Given the description of an element on the screen output the (x, y) to click on. 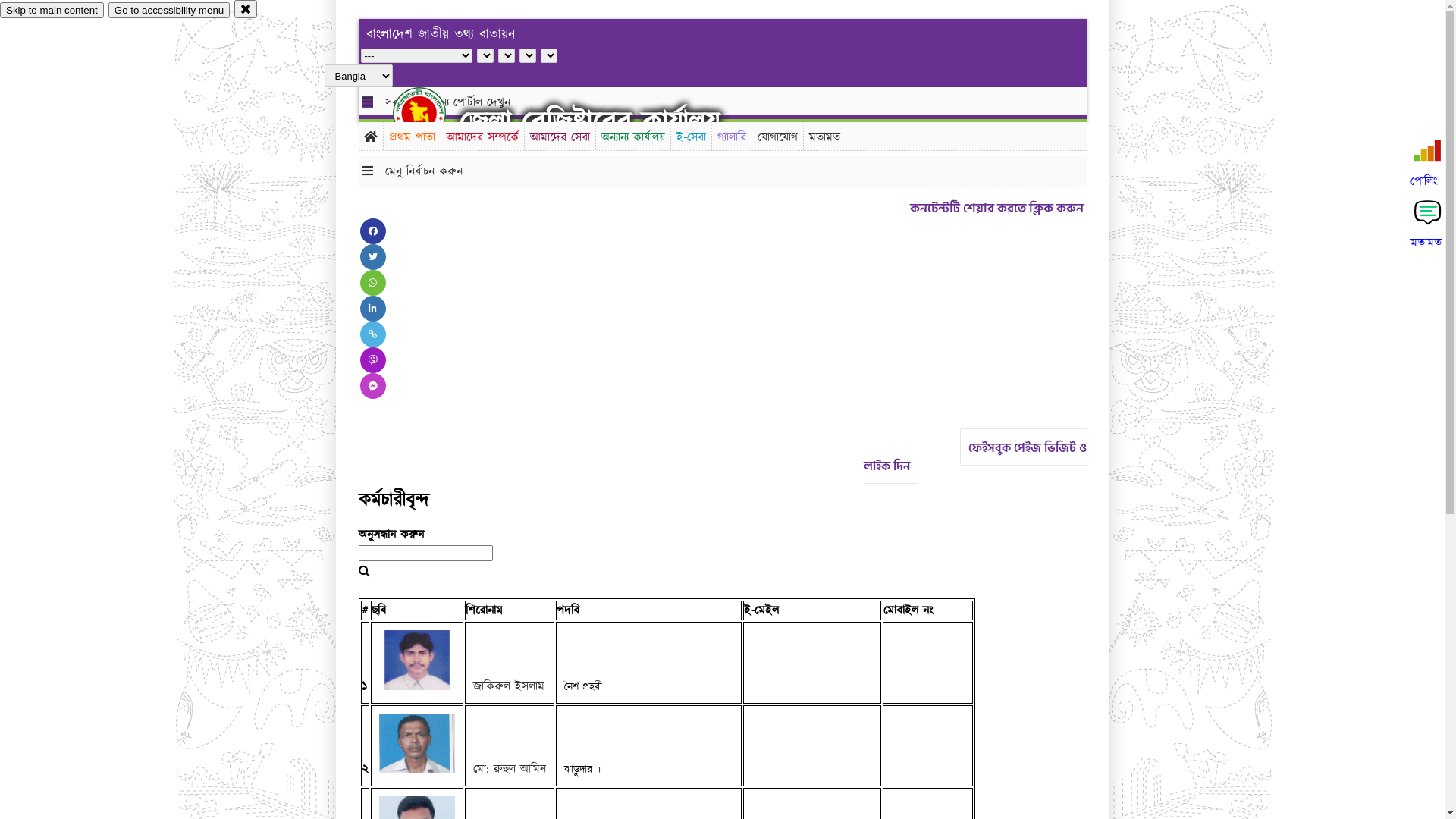
Go to accessibility menu Element type: text (168, 10)
Skip to main content Element type: text (51, 10)
close Element type: hover (245, 9)

                
             Element type: hover (431, 112)
